Given the description of an element on the screen output the (x, y) to click on. 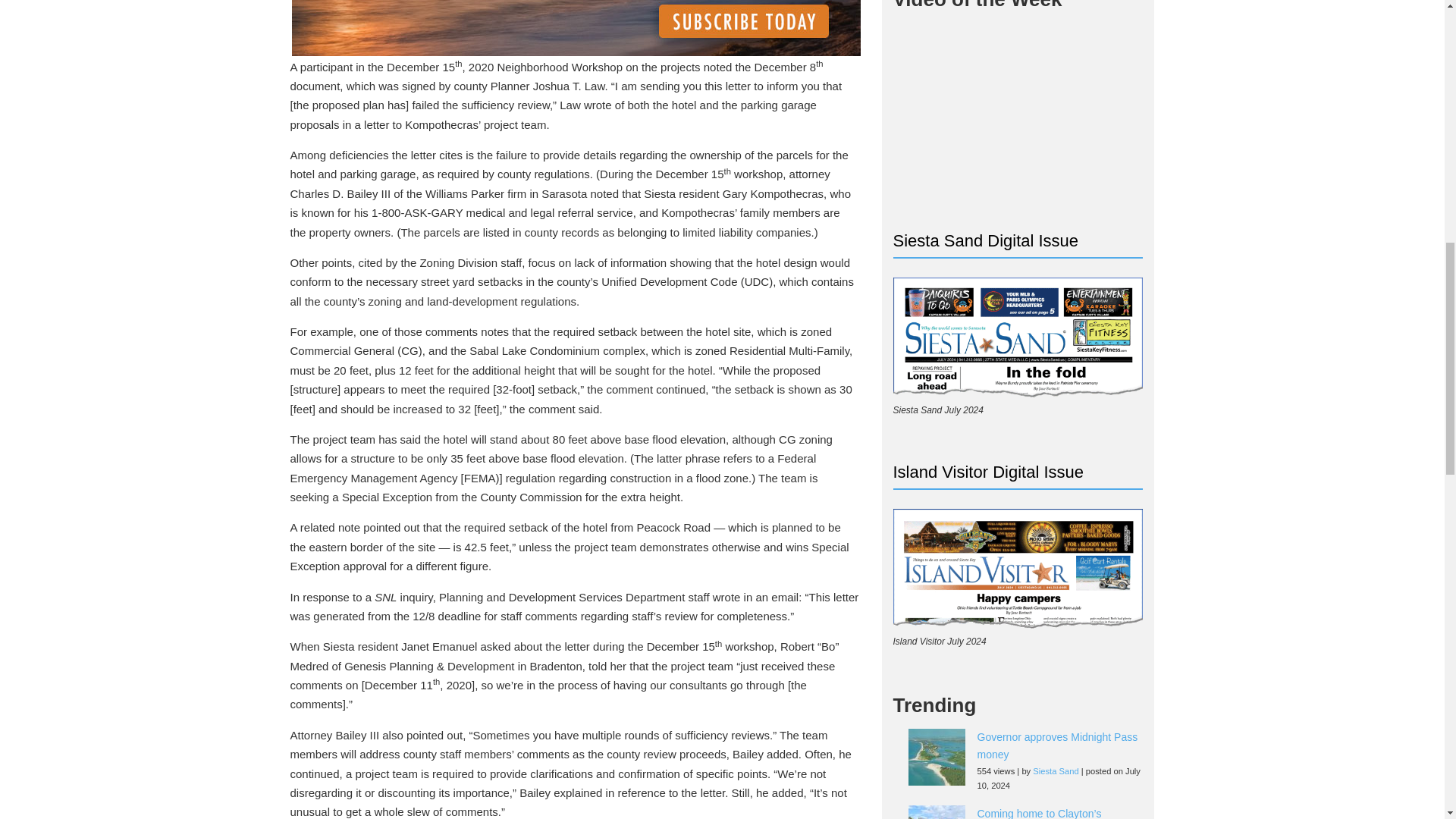
Dolphin delight (1017, 127)
Island Visitor Digital Issue (1017, 568)
Siesta Sand Digital Issue (1017, 337)
